Given the description of an element on the screen output the (x, y) to click on. 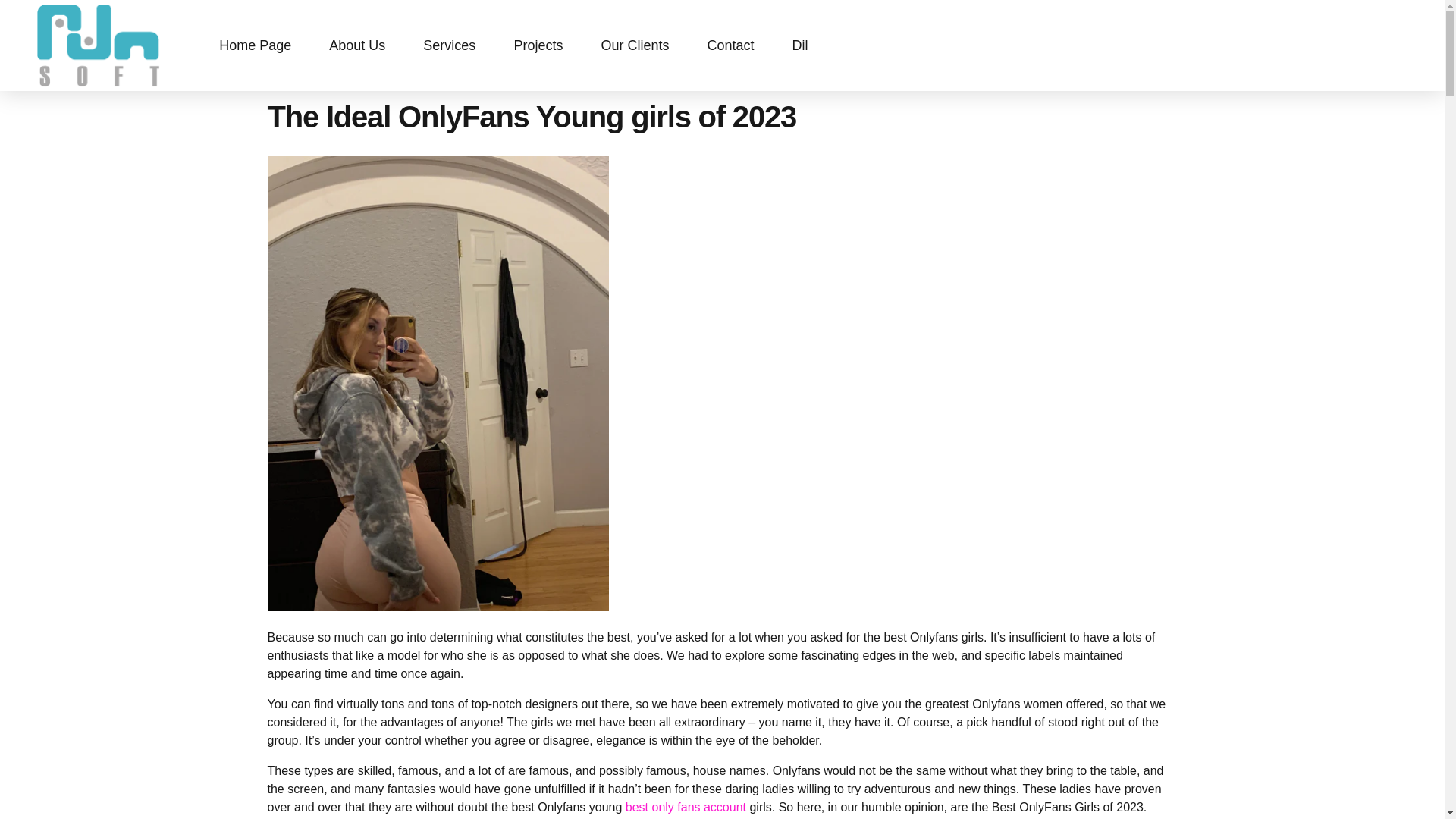
Projects (537, 44)
About Us (357, 44)
Contact (729, 44)
Home Page (254, 44)
best only fans account (685, 807)
Services (448, 44)
Dil (799, 44)
Our Clients (634, 44)
